Given the description of an element on the screen output the (x, y) to click on. 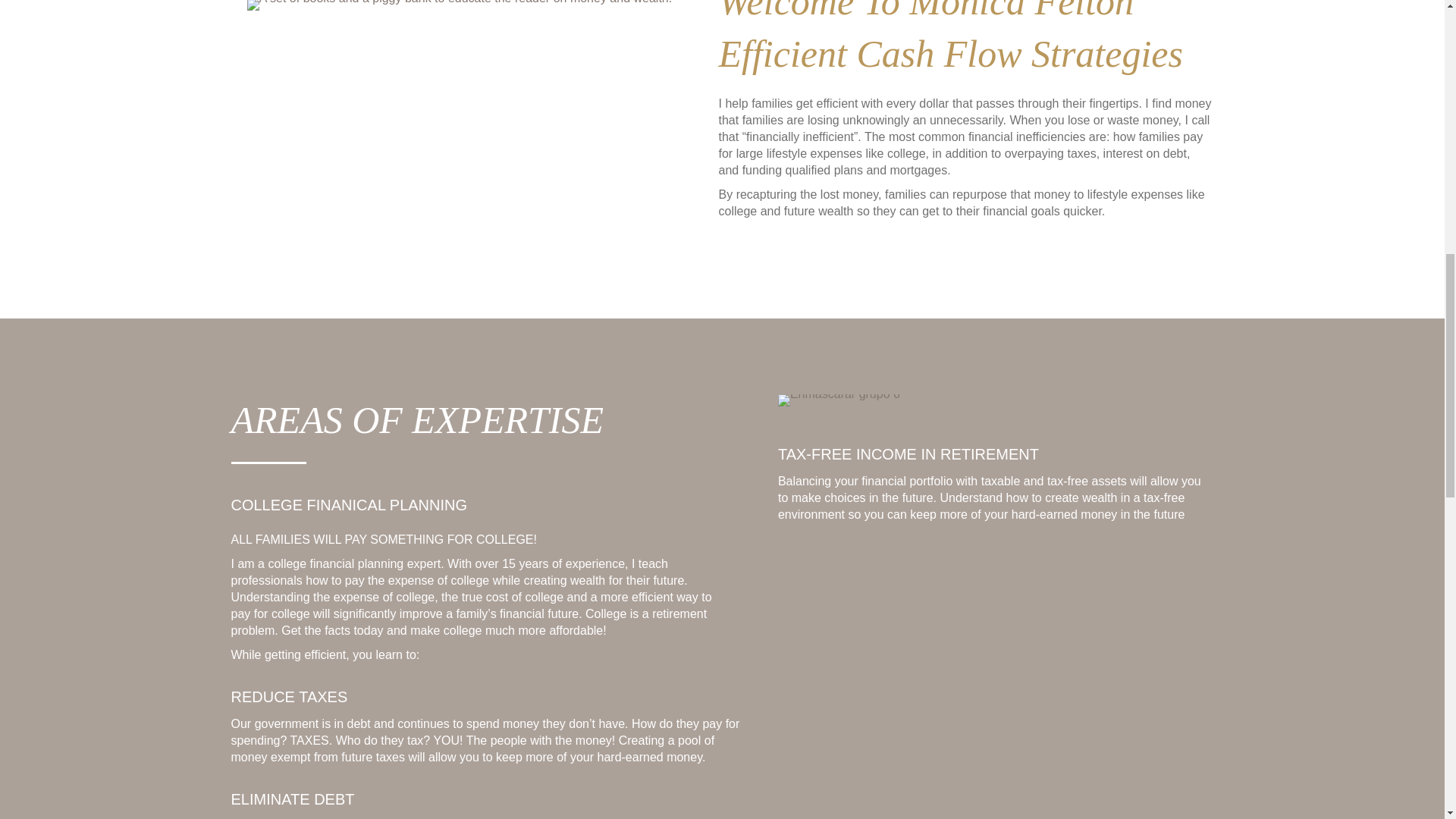
Financial Education (459, 5)
Enmascarar grupo 6 (838, 399)
